Given the description of an element on the screen output the (x, y) to click on. 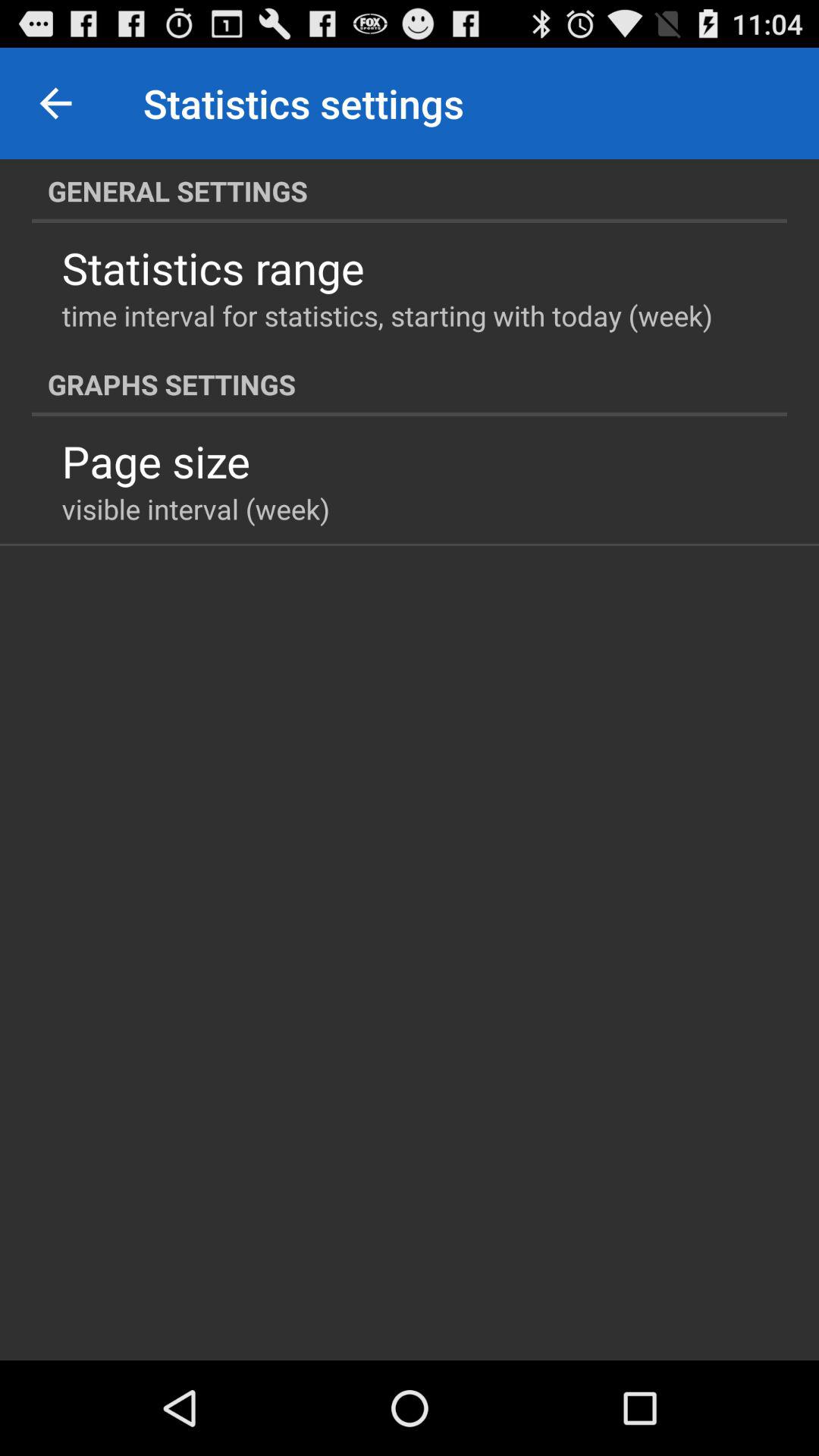
turn on the item above the general settings (55, 103)
